Given the description of an element on the screen output the (x, y) to click on. 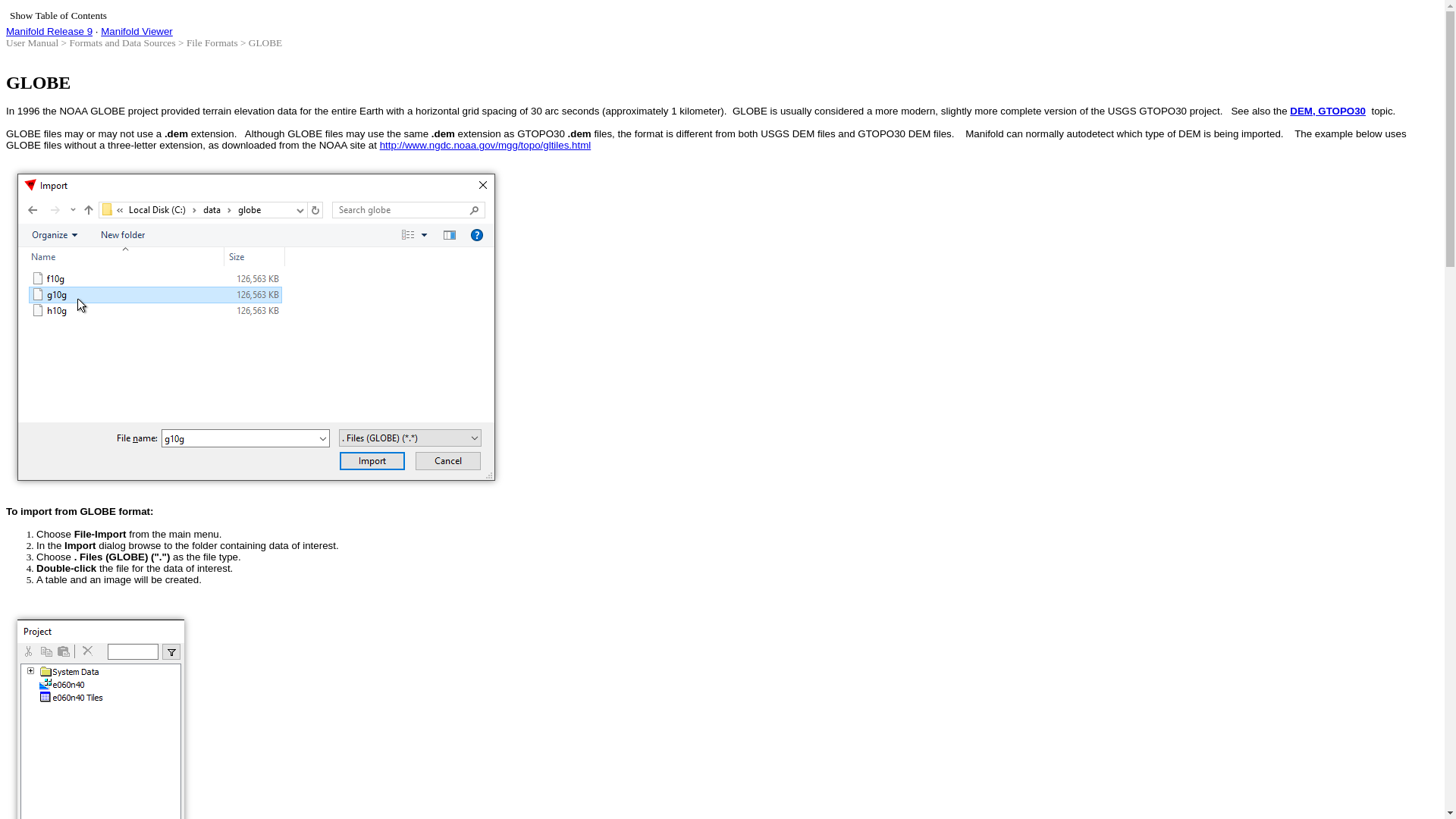
File Formats (212, 42)
Manifold Viewer (136, 30)
Formats and Data Sources (121, 42)
DEM, GTOPO30 (1327, 111)
User Manual (31, 42)
Show Navigation Component (58, 15)
Manifold Release 9 (49, 30)
Show Table of Contents (58, 15)
